Given the description of an element on the screen output the (x, y) to click on. 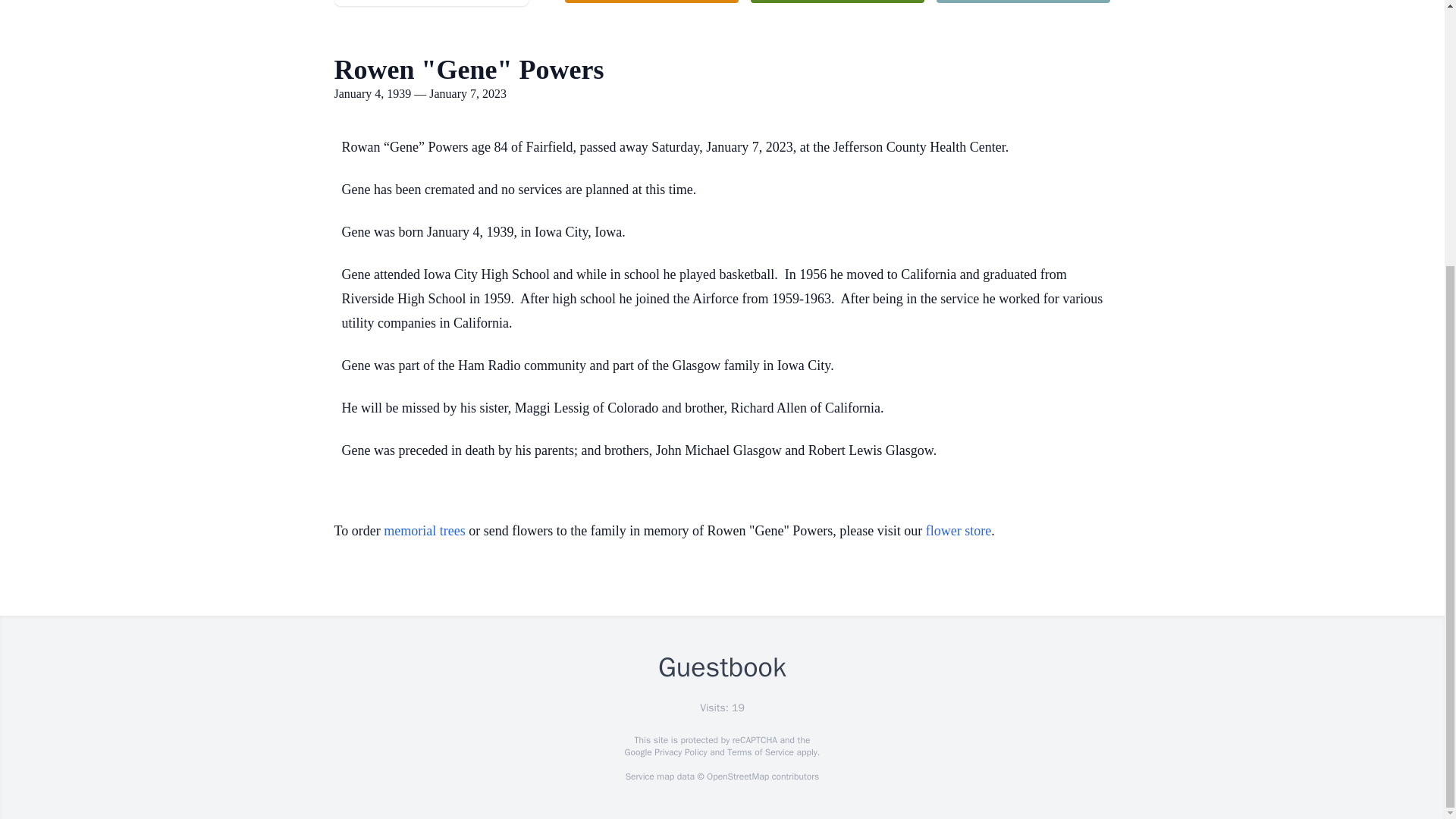
Terms of Service (759, 752)
memorial trees (424, 530)
SEND FLOWERS (651, 1)
SEND A CARD (1022, 1)
PLANT A TREE (837, 1)
Privacy Policy (679, 752)
OpenStreetMap (737, 776)
flower store (958, 530)
